Given the description of an element on the screen output the (x, y) to click on. 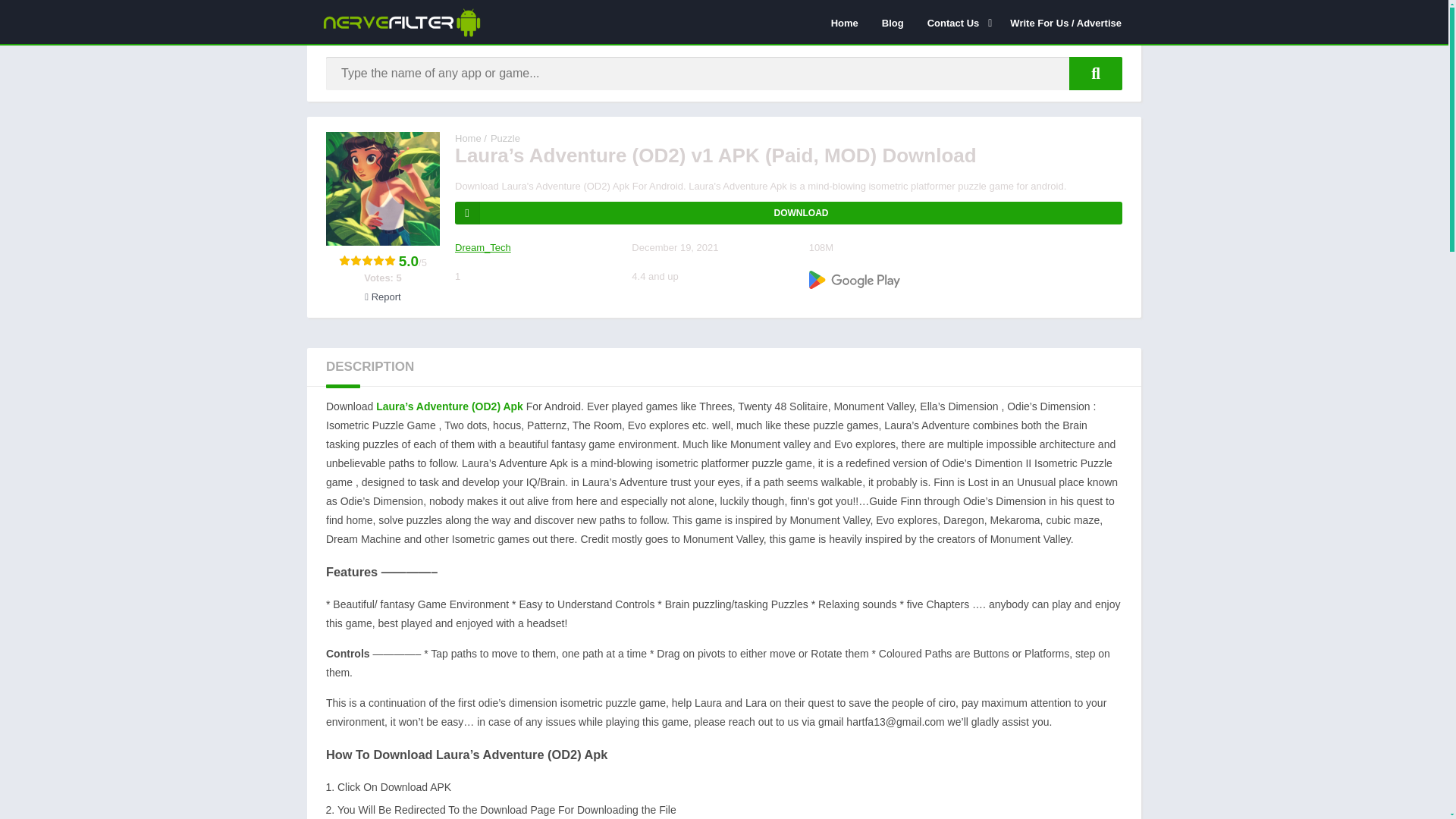
NerveFilter: Download APK Apps and Games MODs (467, 138)
Puzzle (504, 138)
Blog (892, 22)
Download (788, 212)
DOWNLOAD (788, 212)
Home (467, 138)
Type the name of any app or game... (1095, 73)
Home (844, 22)
Contact Us (956, 22)
